Given the description of an element on the screen output the (x, y) to click on. 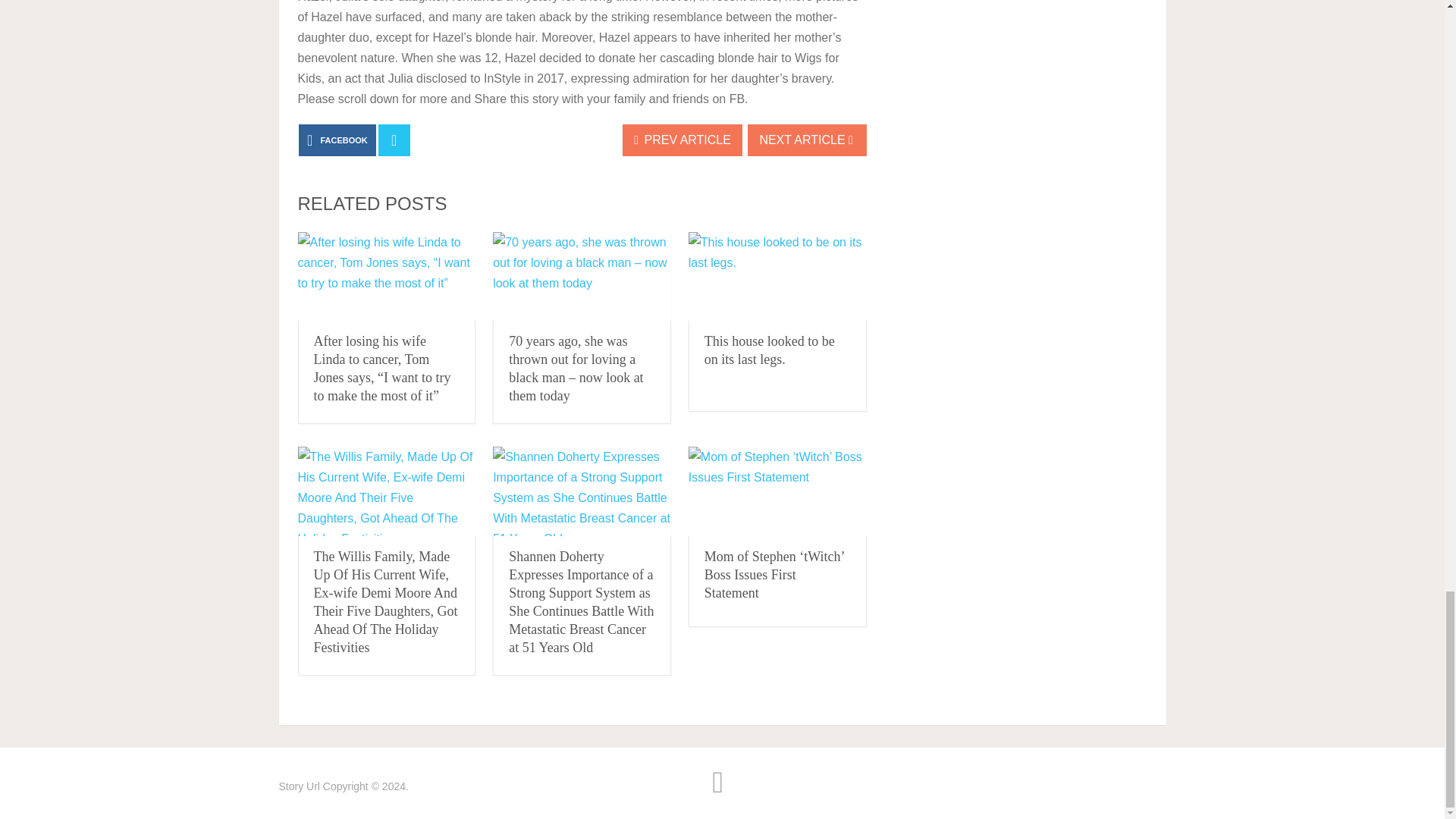
This house looked to be on its last legs. (777, 276)
Story Url (299, 786)
NEXT ARTICLE (807, 140)
This house looked to be on its last legs. (769, 349)
FACEBOOK (336, 140)
PREV ARTICLE (682, 140)
This house looked to be on its last legs. (769, 349)
